Given the description of an element on the screen output the (x, y) to click on. 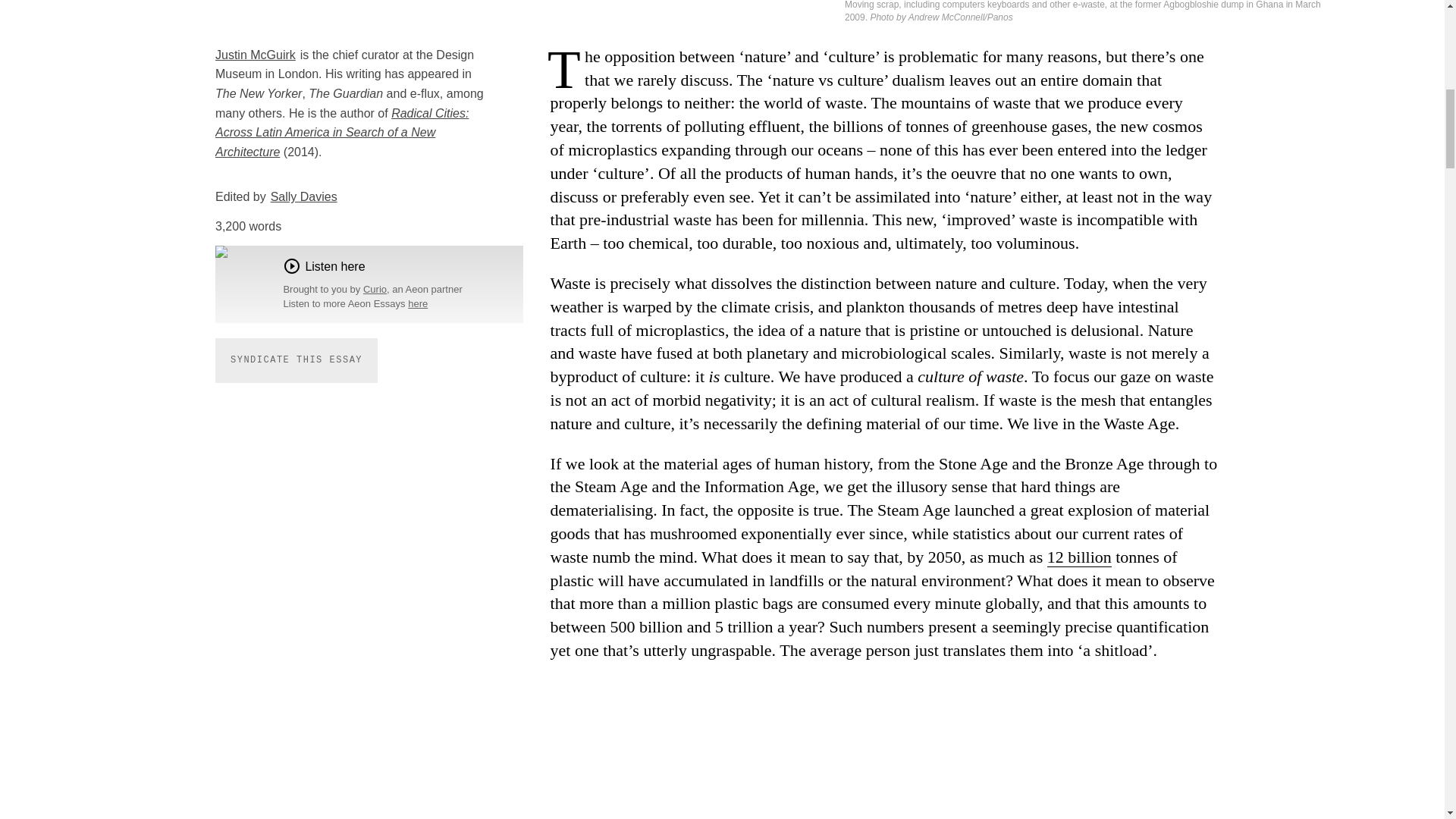
12 billion (1079, 557)
Justin McGuirk (255, 54)
Curio (374, 288)
SYNDICATE THIS ESSAY (296, 360)
here (417, 303)
Sally Davies (303, 196)
